Given the description of an element on the screen output the (x, y) to click on. 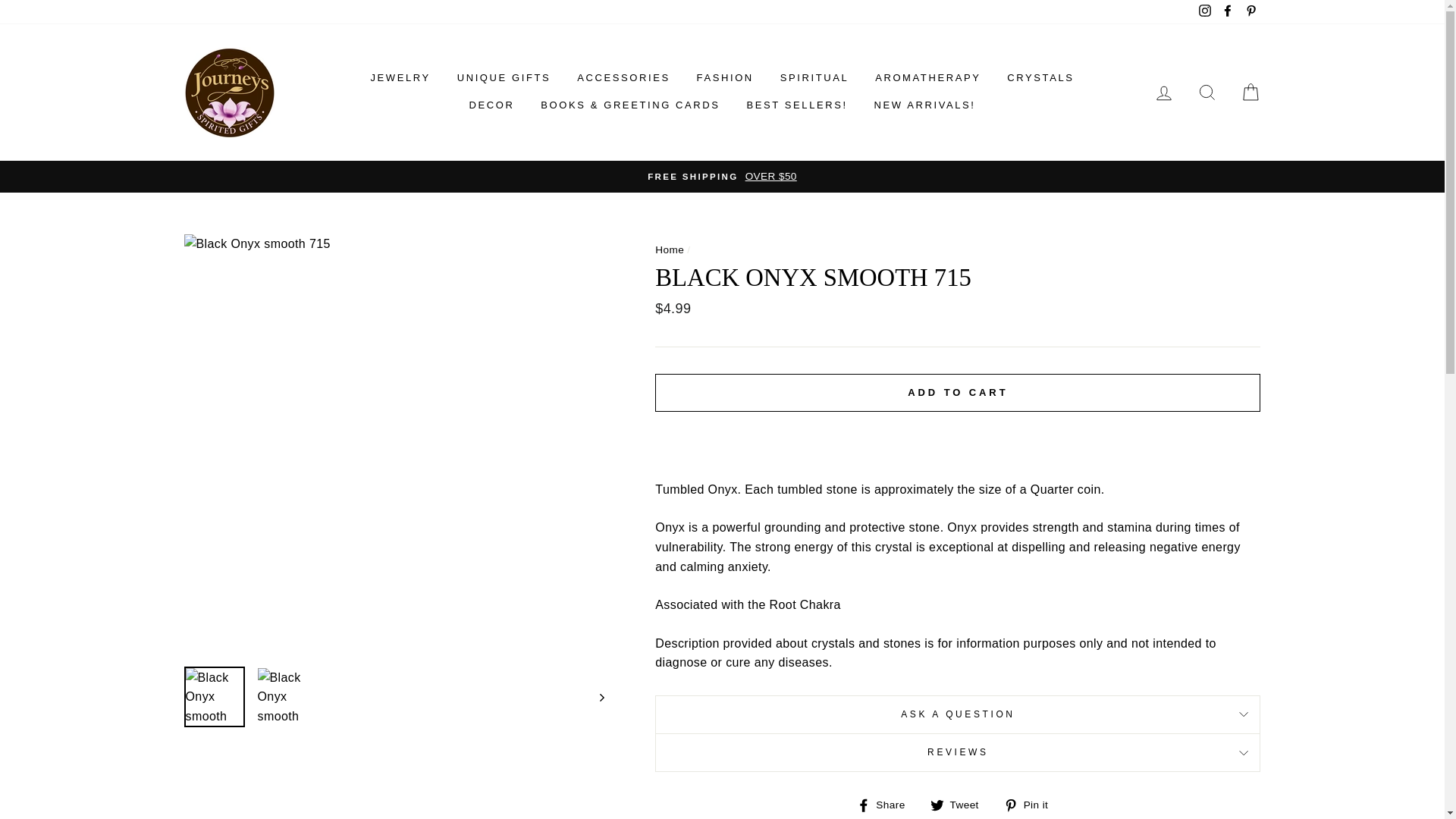
Share on Facebook (887, 804)
Tweet on Twitter (960, 804)
Back to the frontpage (669, 249)
Pin on Pinterest (1031, 804)
